Given the description of an element on the screen output the (x, y) to click on. 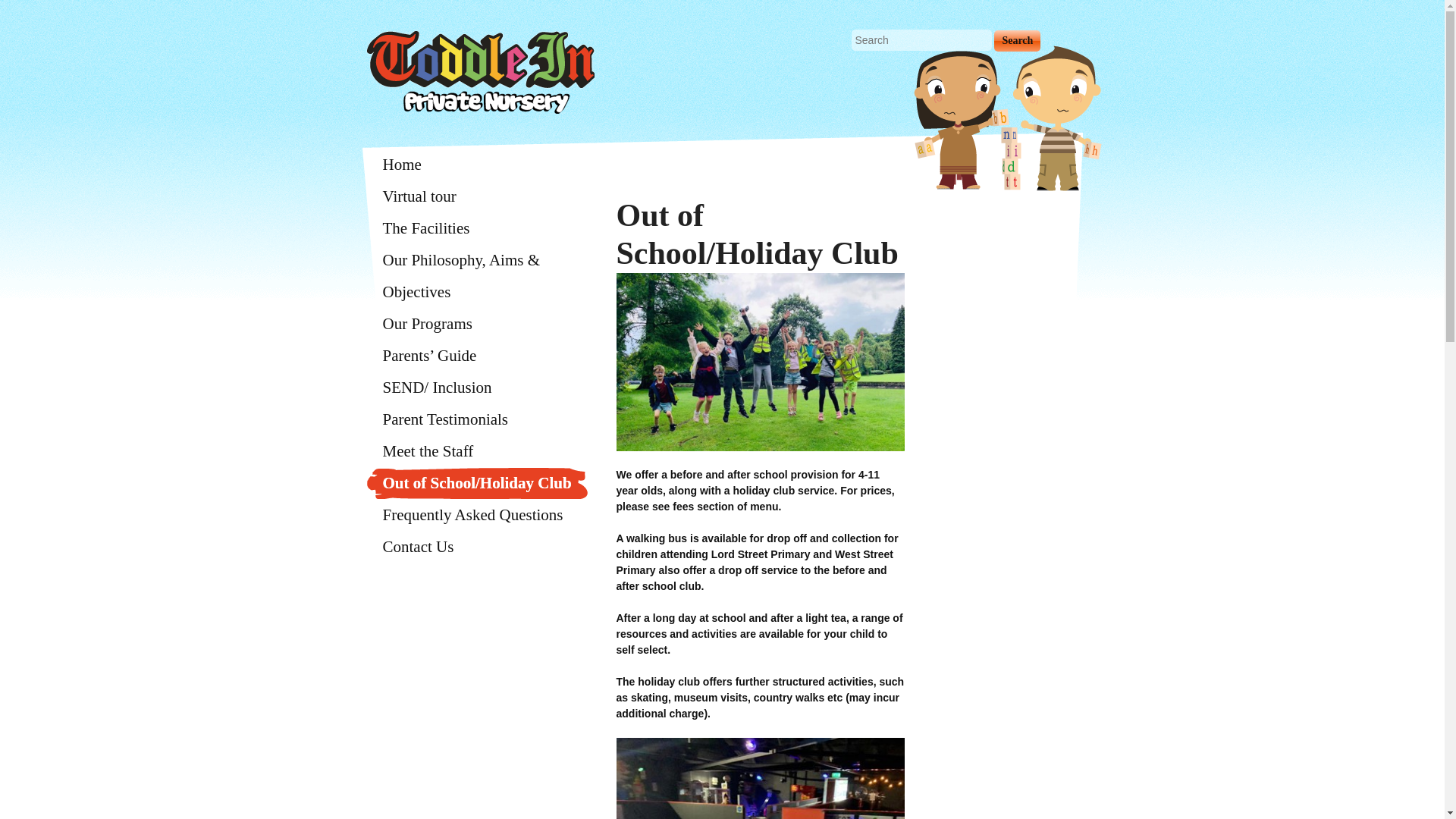
Search (1017, 40)
Contact Us (478, 546)
Our Programs (478, 323)
Virtual tour (478, 196)
The Facilities (478, 228)
Home (478, 164)
Parent Testimonials (478, 418)
Frequently Asked Questions (478, 514)
Search (1017, 40)
Toddle In Private Nursery (479, 71)
